Given the description of an element on the screen output the (x, y) to click on. 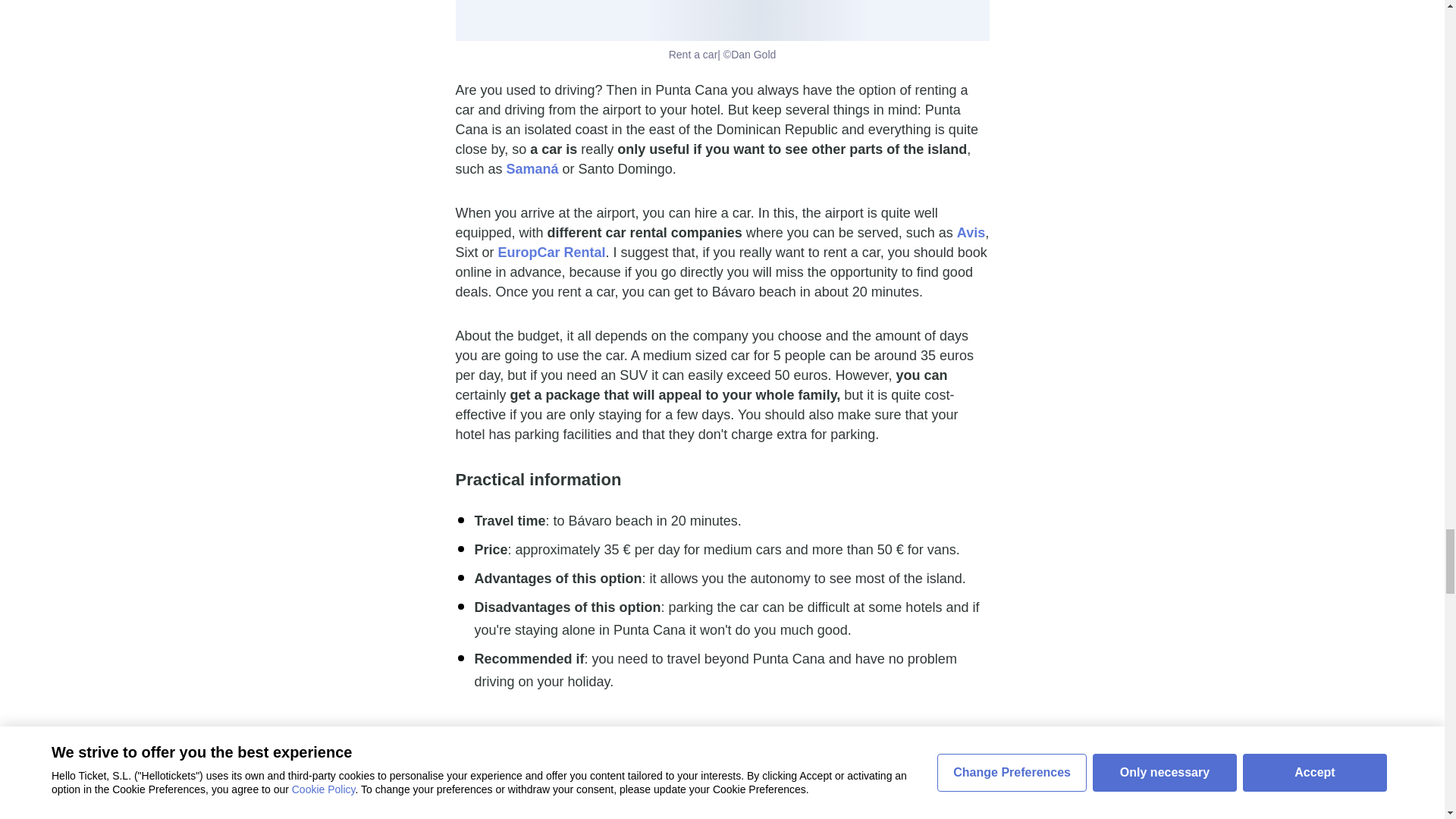
Avis (970, 232)
EuropCar Rental (551, 252)
